Given the description of an element on the screen output the (x, y) to click on. 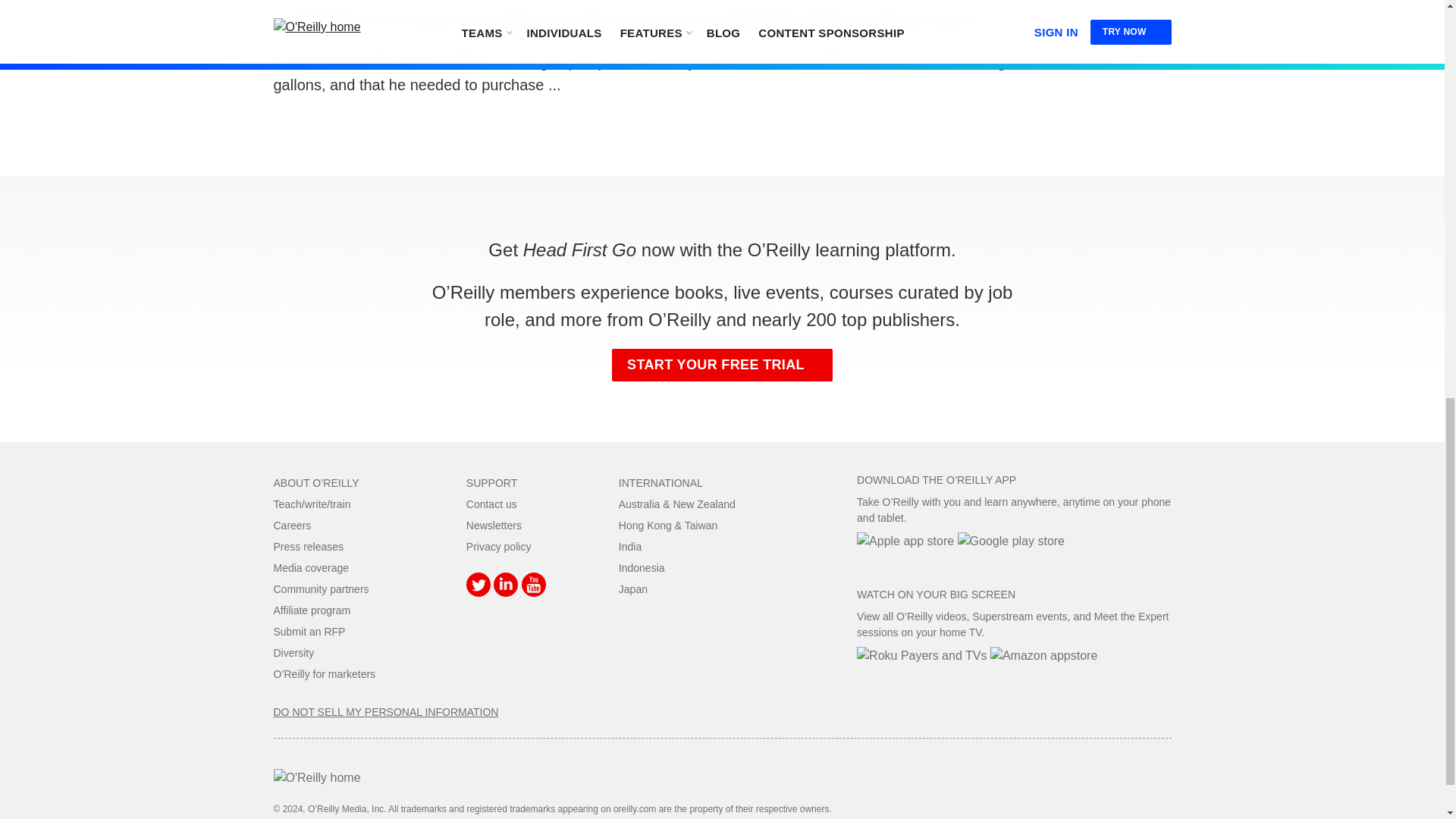
Press releases (308, 546)
Privacy policy (498, 546)
SUPPORT (490, 482)
Media coverage (311, 567)
Community partners (320, 589)
Diversity (293, 653)
Contact us (490, 503)
Newsletters (493, 525)
Submit an RFP (309, 631)
Careers (292, 525)
